Given the description of an element on the screen output the (x, y) to click on. 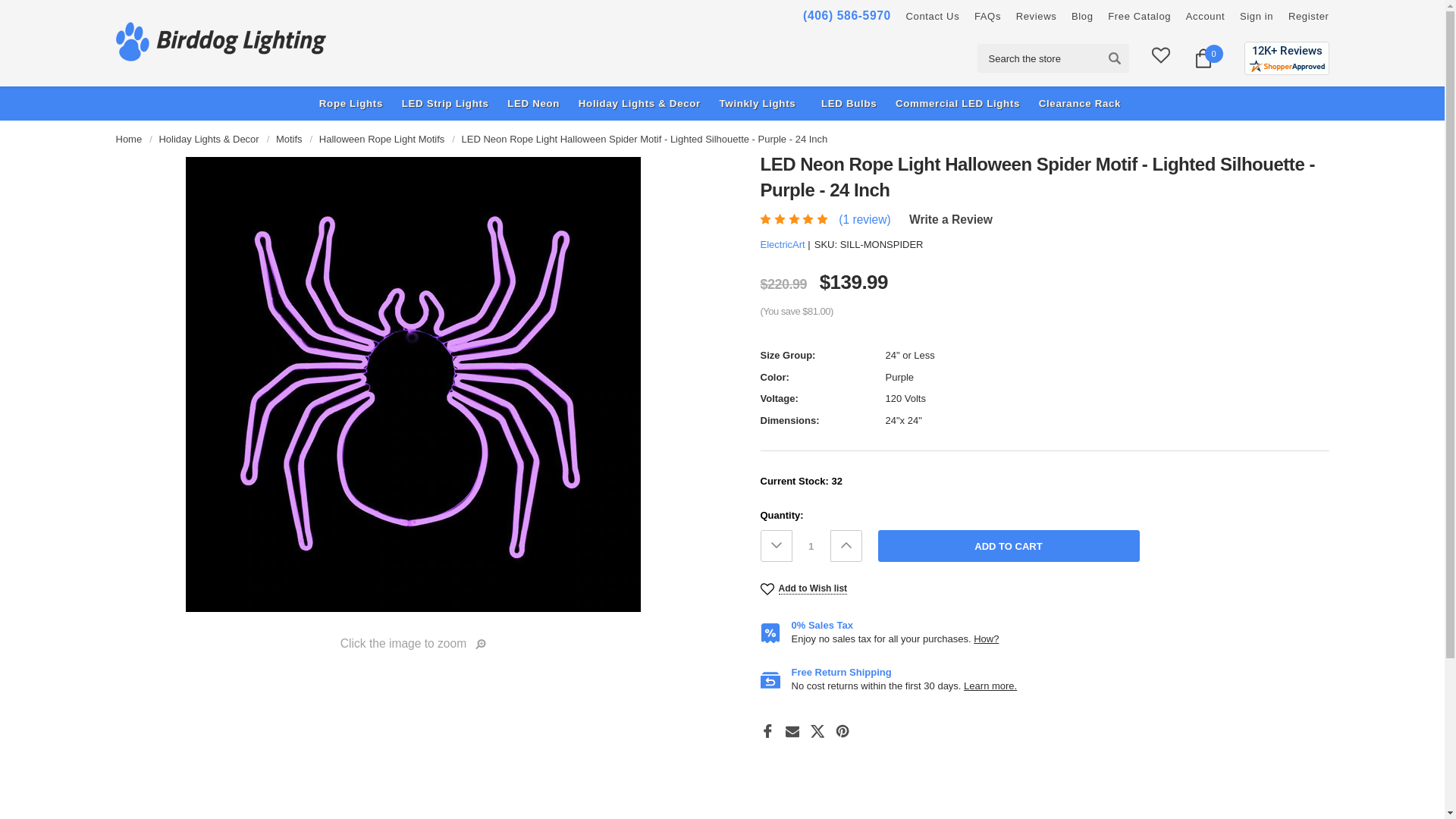
Contact Us (932, 16)
Register (1308, 16)
Account (1205, 16)
Facebook (767, 730)
Email (792, 730)
Blog (1082, 16)
Add to Cart (1008, 545)
FAQs (987, 16)
Free Catalog (1139, 16)
